Given the description of an element on the screen output the (x, y) to click on. 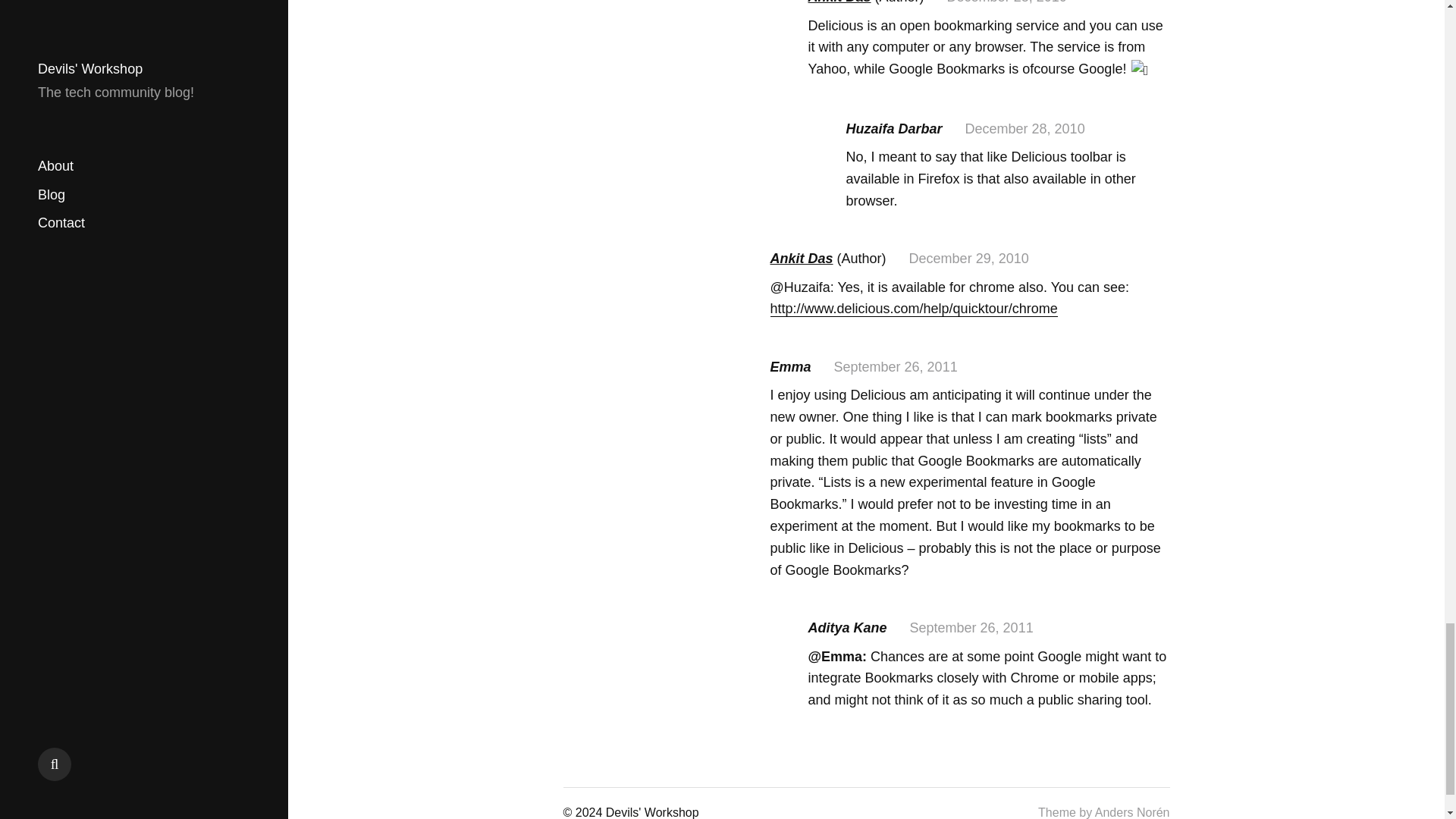
December 28, 2010 at 7:12 pm (1007, 2)
December 28, 2010 (1024, 128)
December 28, 2010 (1007, 2)
September 26, 2011 (896, 366)
Ankit Das (839, 2)
Ankit Das (801, 258)
December 29, 2010 (968, 258)
December 29, 2010 at 12:40 pm (968, 258)
September 26, 2011 (971, 627)
December 28, 2010 at 7:25 pm (1024, 128)
